Given the description of an element on the screen output the (x, y) to click on. 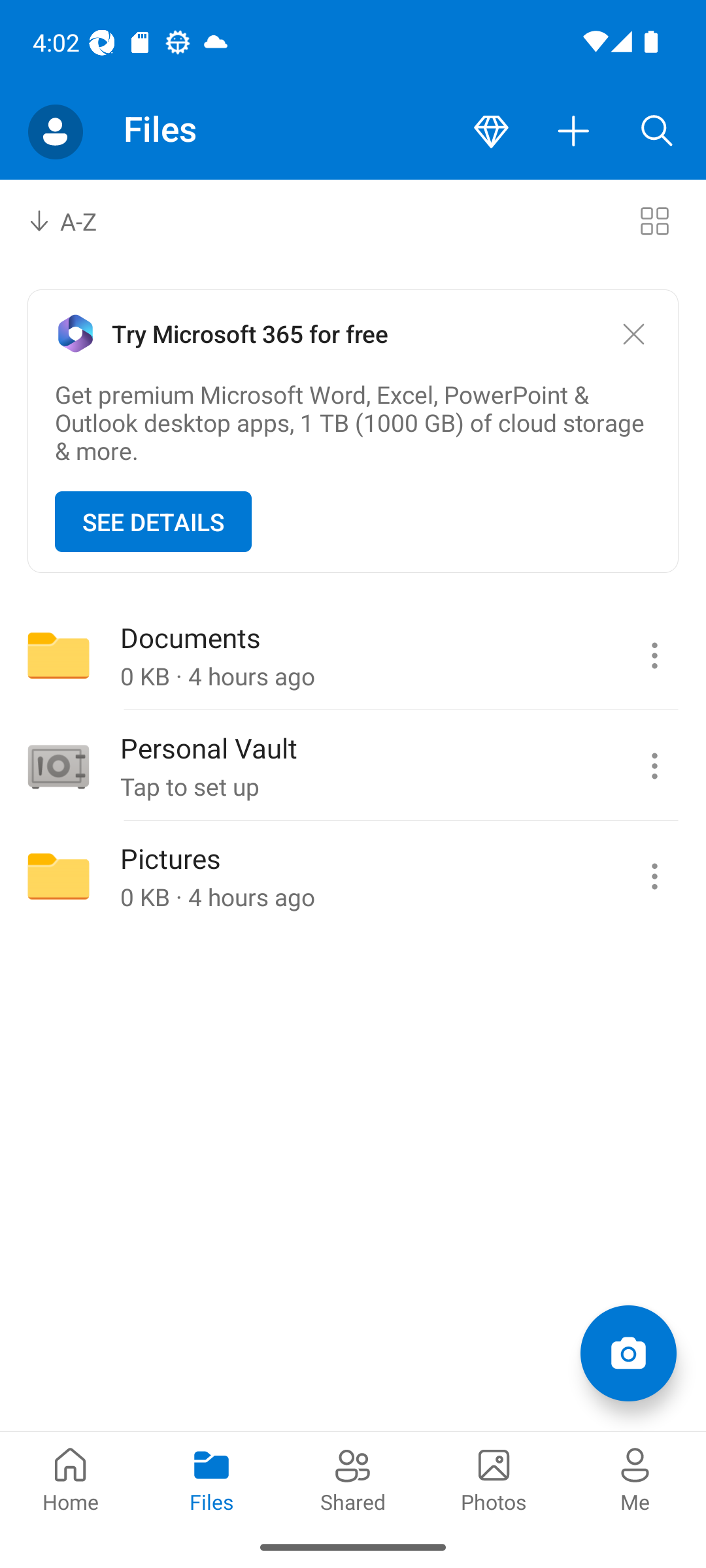
Account switcher (55, 131)
Premium button (491, 131)
More actions button (574, 131)
Search button (656, 131)
A-Z Sort by combo box, sort by name, A to Z (76, 220)
Switch to tiles view (654, 220)
Close (633, 334)
SEE DETAILS (153, 520)
Documents commands (654, 655)
Personal Vault commands (654, 765)
Pictures commands (654, 876)
Add items Scan (628, 1352)
Home pivot Home (70, 1478)
Shared pivot Shared (352, 1478)
Photos pivot Photos (493, 1478)
Me pivot Me (635, 1478)
